Given the description of an element on the screen output the (x, y) to click on. 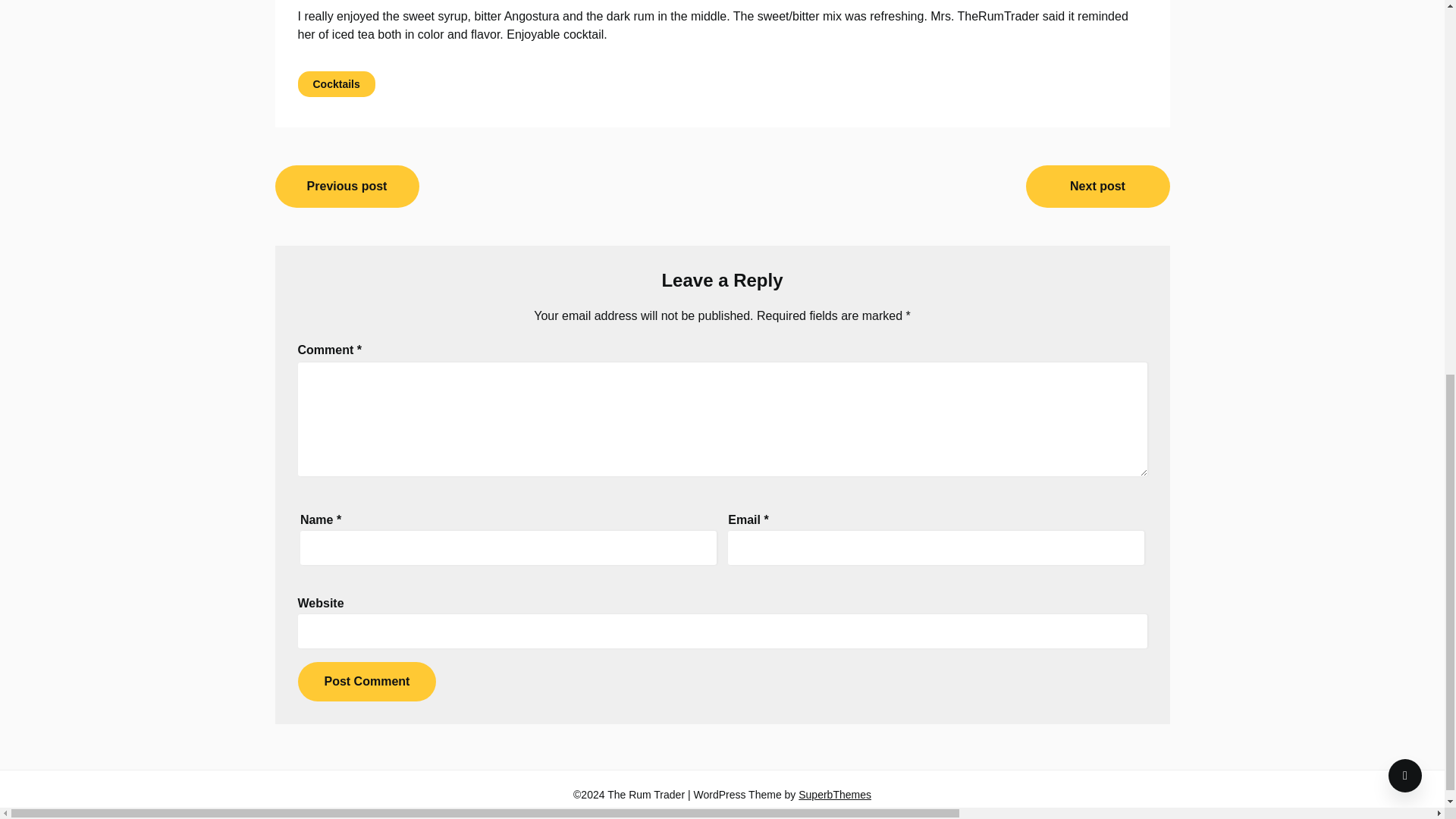
Cocktails (335, 84)
SuperbThemes (833, 794)
To Top (1405, 68)
Post Comment (366, 681)
Post Comment (366, 681)
Previous post (347, 186)
Next post (1097, 186)
